Given the description of an element on the screen output the (x, y) to click on. 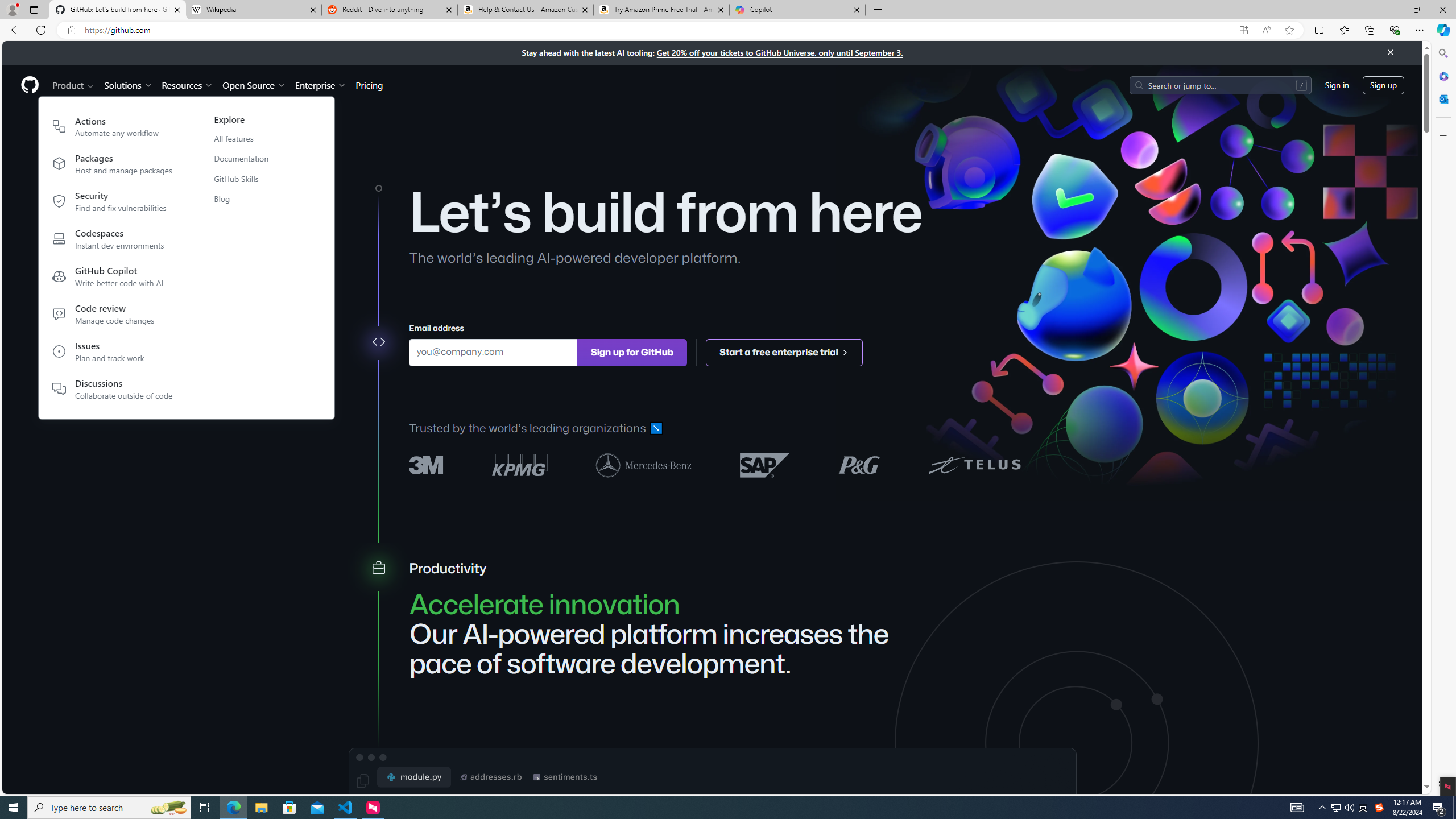
Security Find and fix vulnerabilities (112, 203)
GitHub Skills (248, 178)
Wikipedia (253, 9)
IssuesPlan and track work (112, 353)
P&G logo (858, 464)
Open Source (254, 84)
Blog (248, 199)
Telus logo (973, 464)
GitHub CopilotWrite better code with AI (112, 278)
App available. Install GitHub (1243, 29)
